Given the description of an element on the screen output the (x, y) to click on. 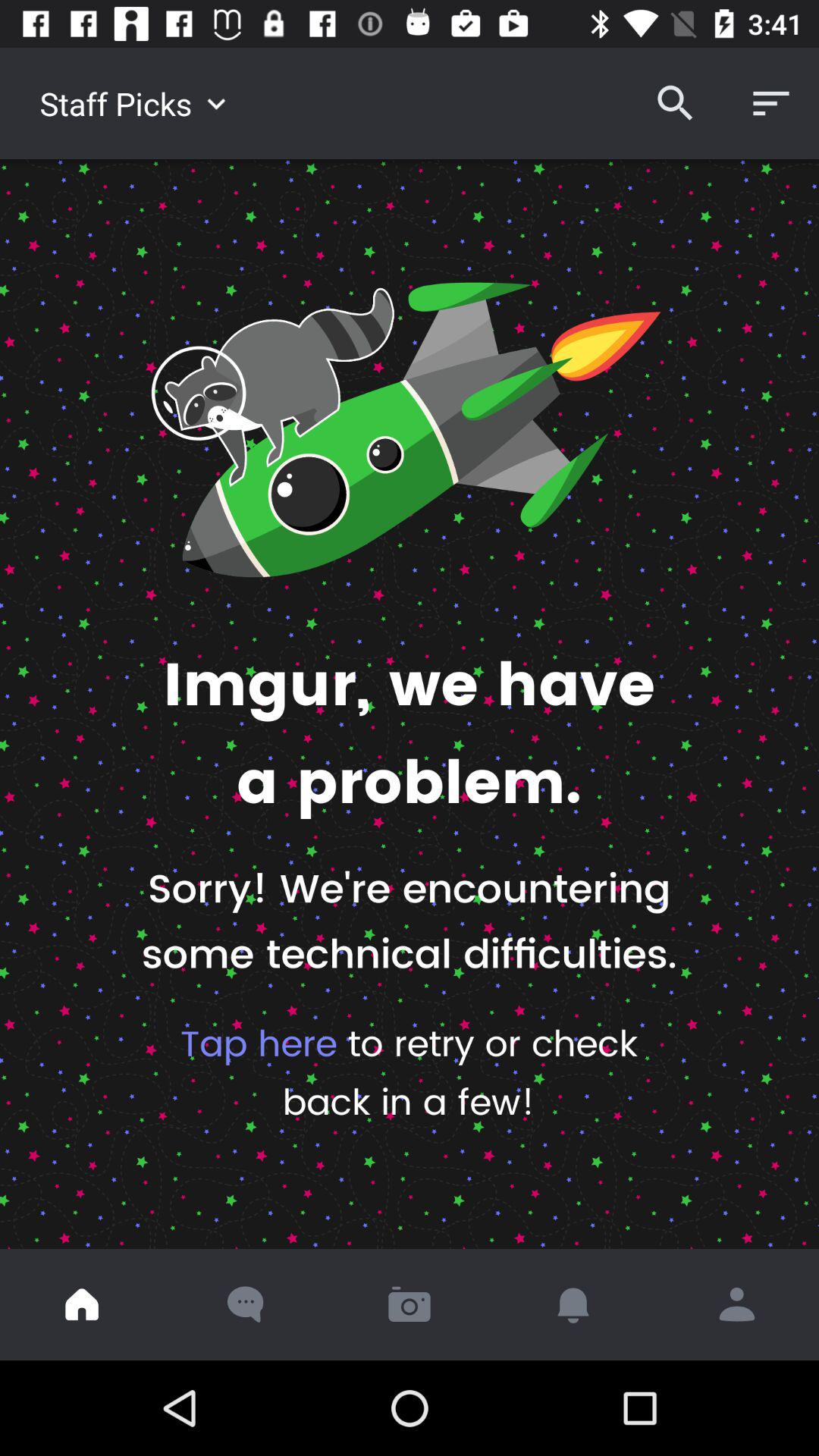
turn on camera (409, 1304)
